Given the description of an element on the screen output the (x, y) to click on. 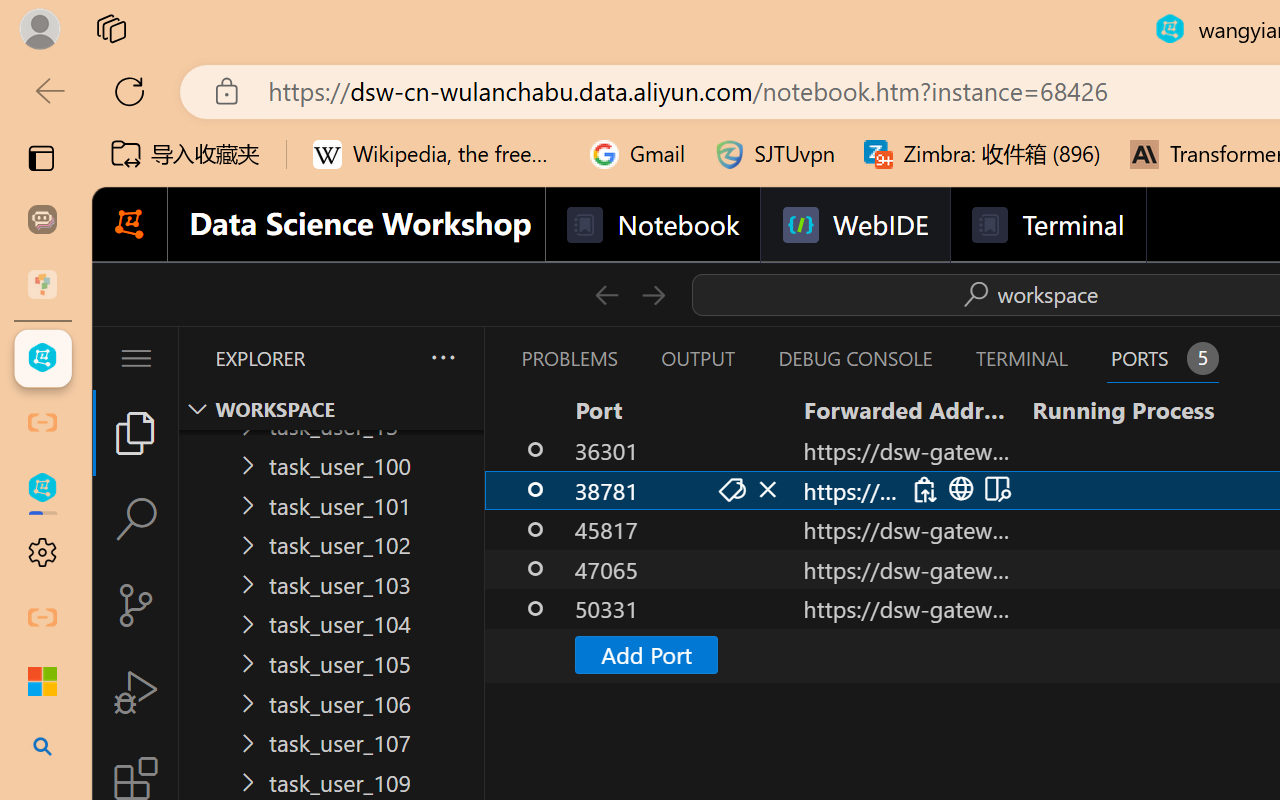
Explorer actions (390, 358)
wangyian_webcrawler - DSW (42, 487)
Open in Browser (958, 489)
Go Forward (Alt+RightArrow) (652, 294)
Explorer (Ctrl+Shift+E) (135, 432)
Go Back (Alt+LeftArrow) (605, 294)
Problems (Ctrl+Shift+M) (567, 358)
Views and More Actions... (442, 357)
Preview in Editor (994, 489)
Stop Forwarding Port (Delete) (766, 489)
Terminal (1046, 225)
SJTUvpn (774, 154)
Terminal (Ctrl+`) (1021, 358)
